Given the description of an element on the screen output the (x, y) to click on. 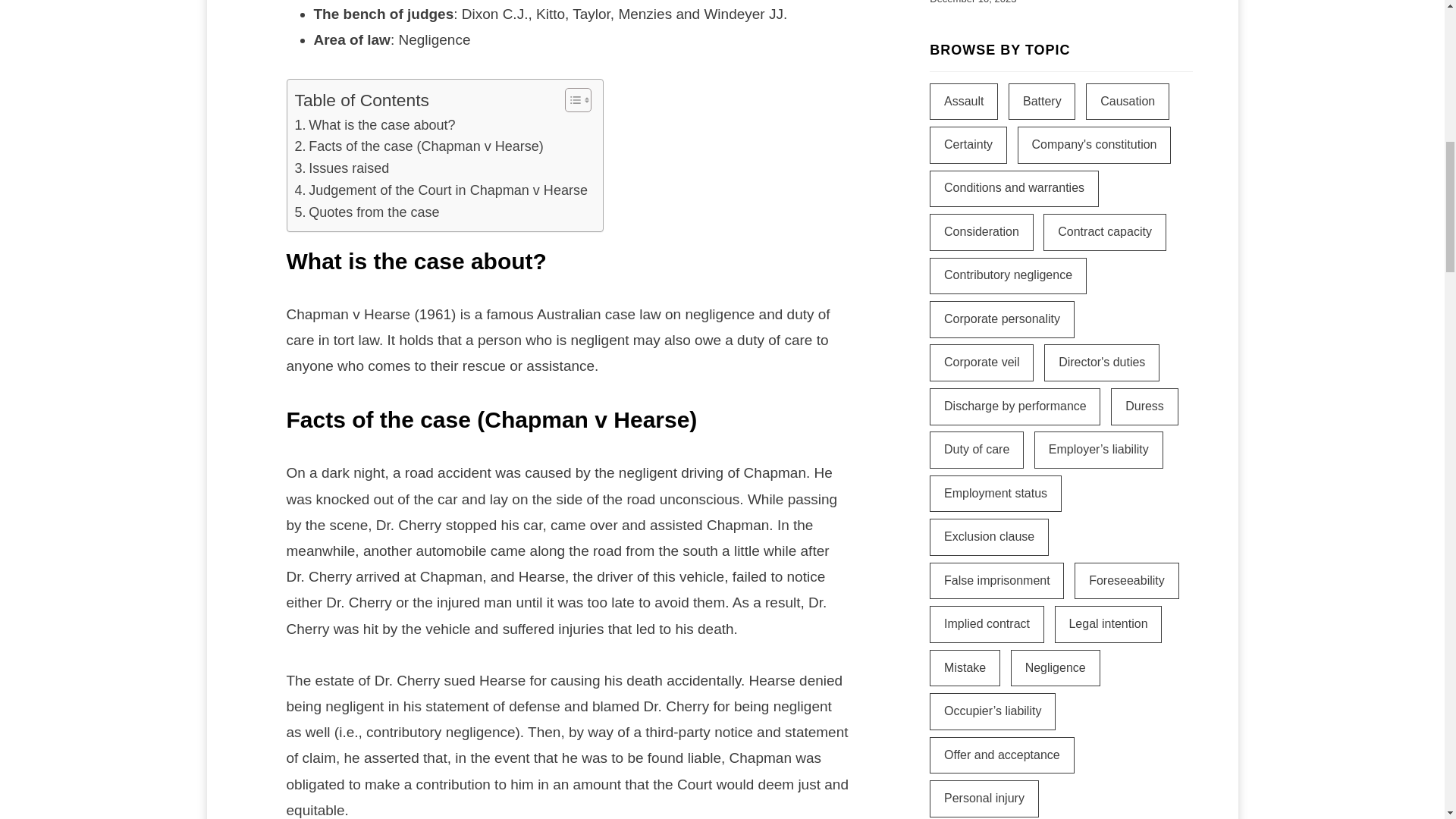
Quotes from the case (366, 212)
What is the case about? (374, 125)
Issues raised (341, 168)
Judgement of the Court in Chapman v Hearse (441, 190)
Issues raised (341, 168)
Quotes from the case (366, 212)
Judgement of the Court in Chapman v Hearse (441, 190)
What is the case about? (374, 125)
